Given the description of an element on the screen output the (x, y) to click on. 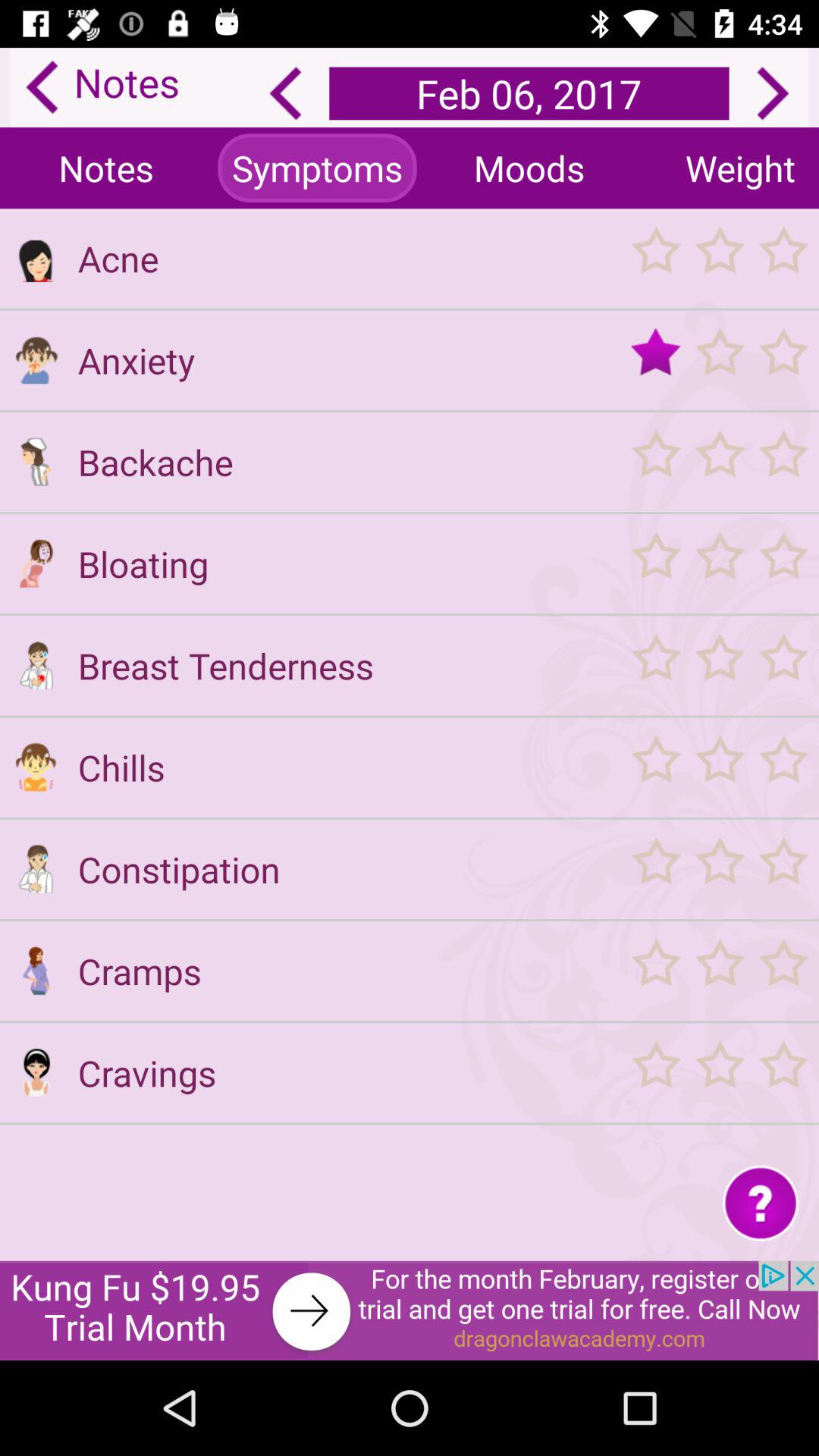
menu button (719, 767)
